Given the description of an element on the screen output the (x, y) to click on. 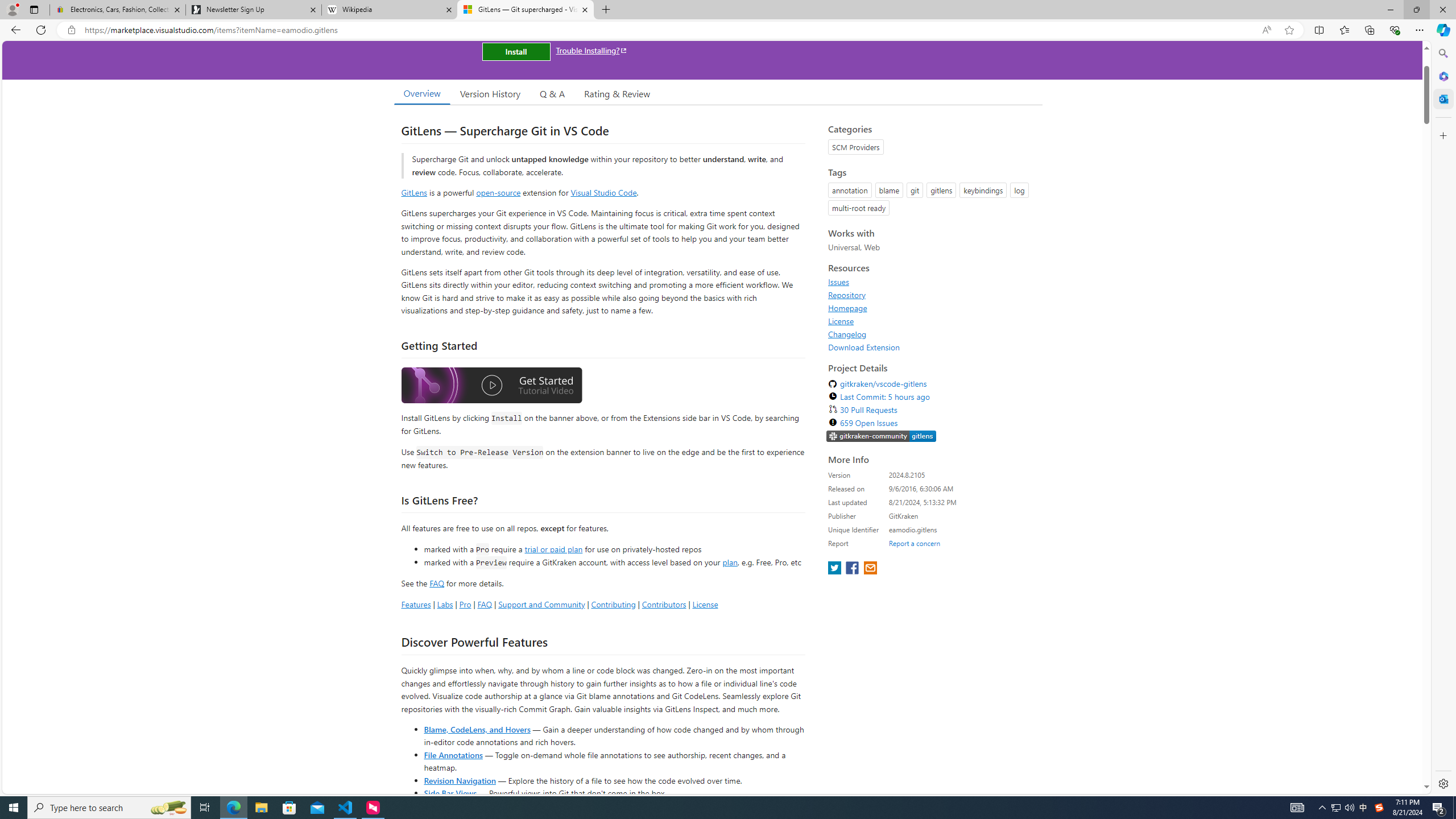
Overview (421, 92)
